Given the description of an element on the screen output the (x, y) to click on. 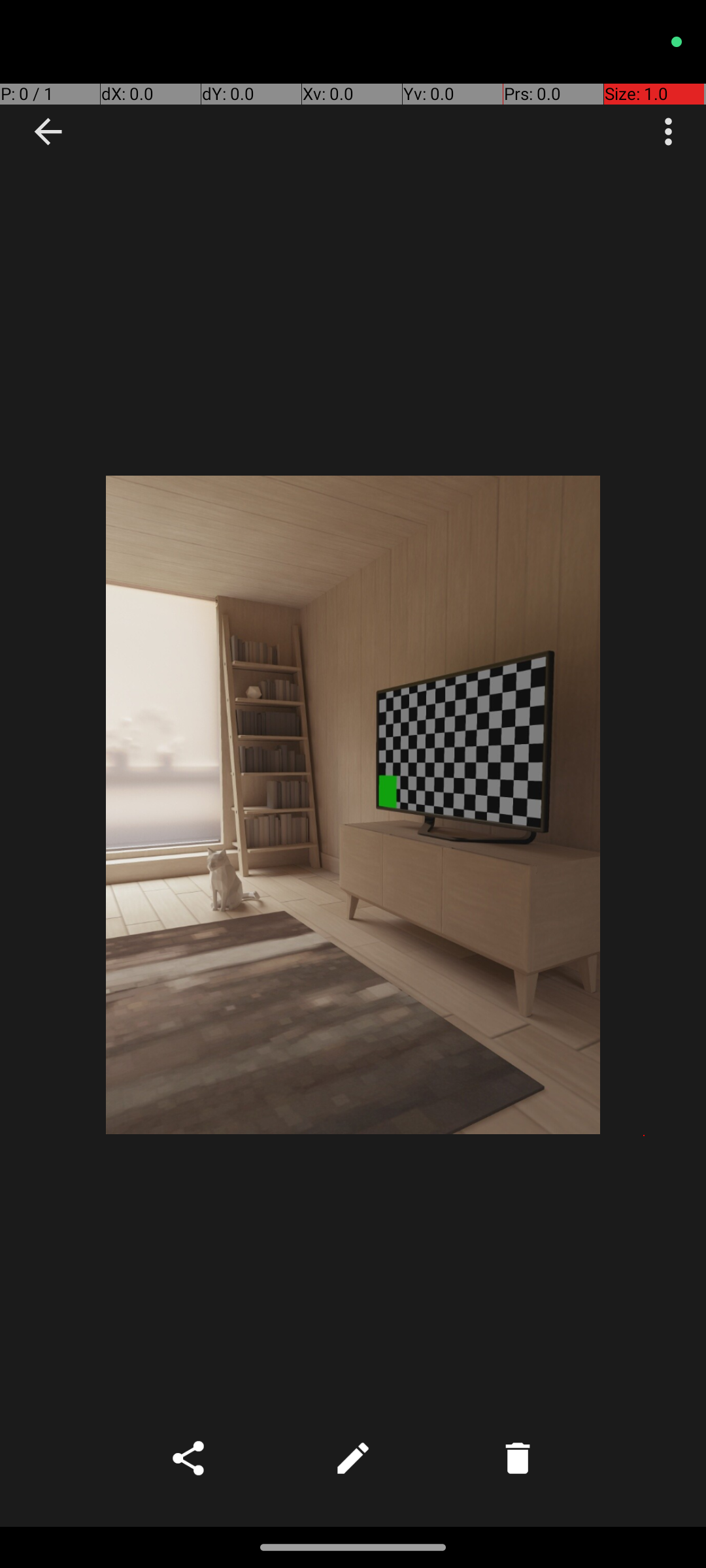
Photo taken on Oct 15, 2023 15:34:30 Element type: android.widget.ImageView (352, 804)
